Given the description of an element on the screen output the (x, y) to click on. 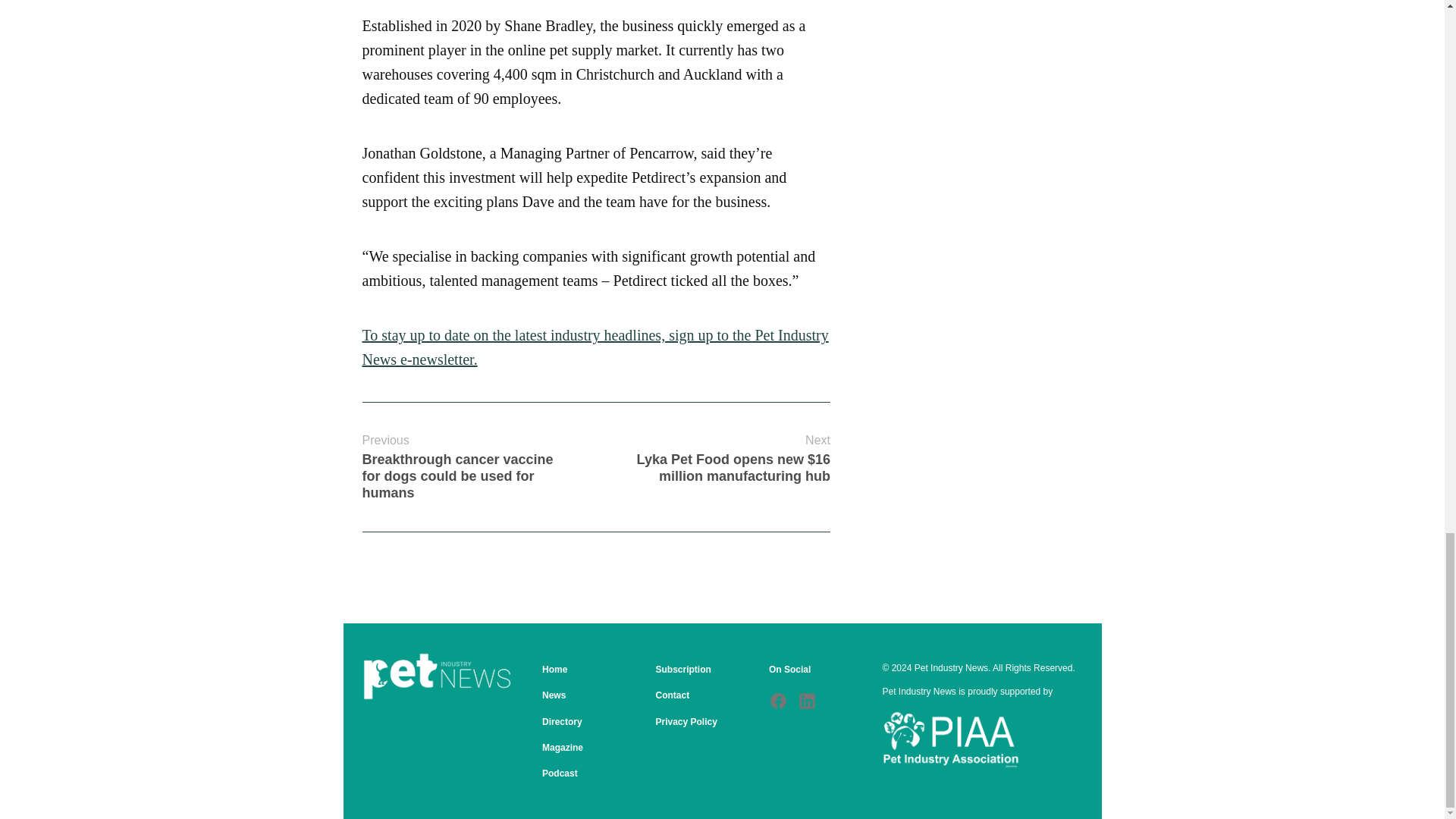
3rd party ad content (967, 96)
